Given the description of an element on the screen output the (x, y) to click on. 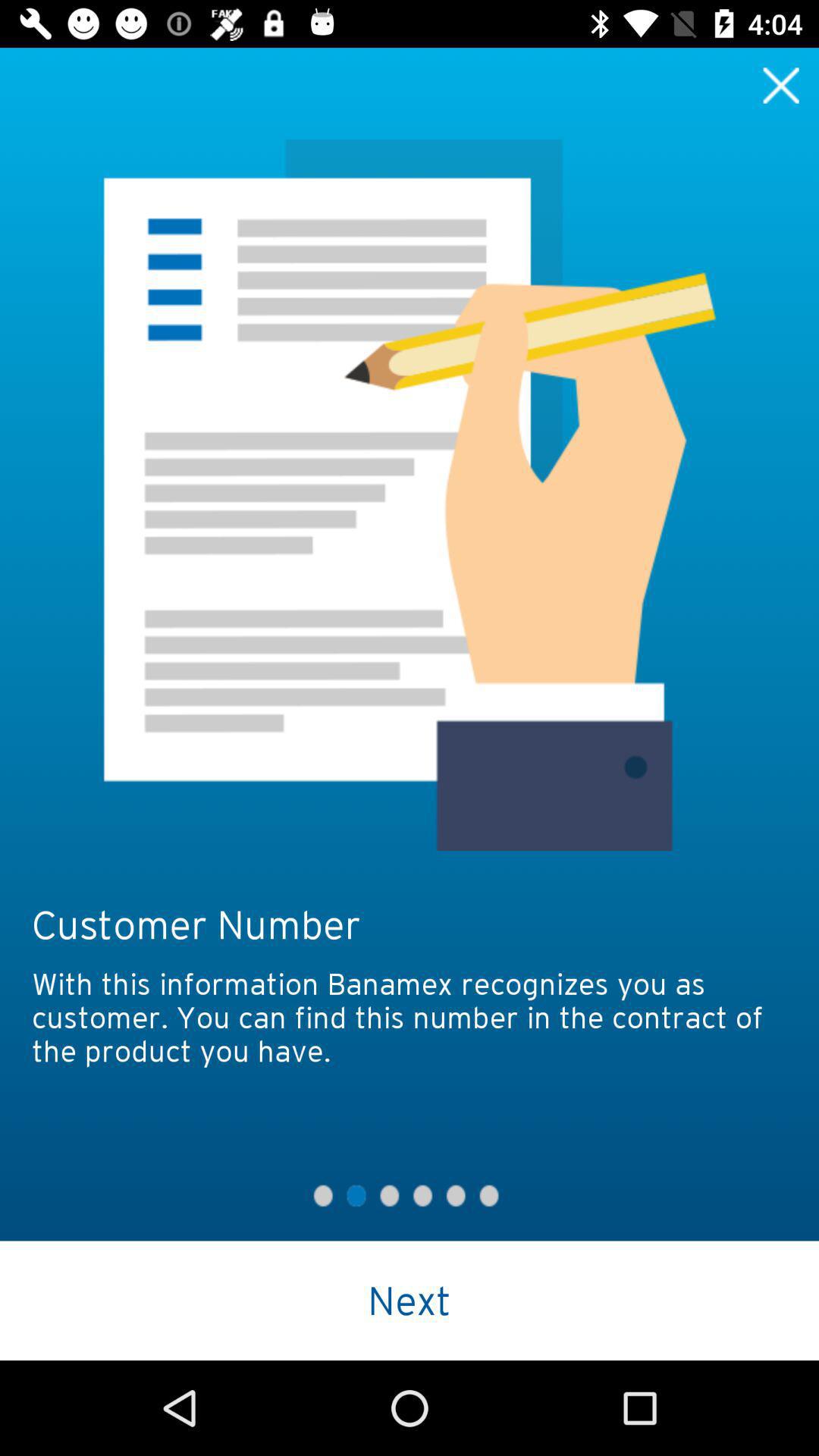
close page (781, 85)
